Given the description of an element on the screen output the (x, y) to click on. 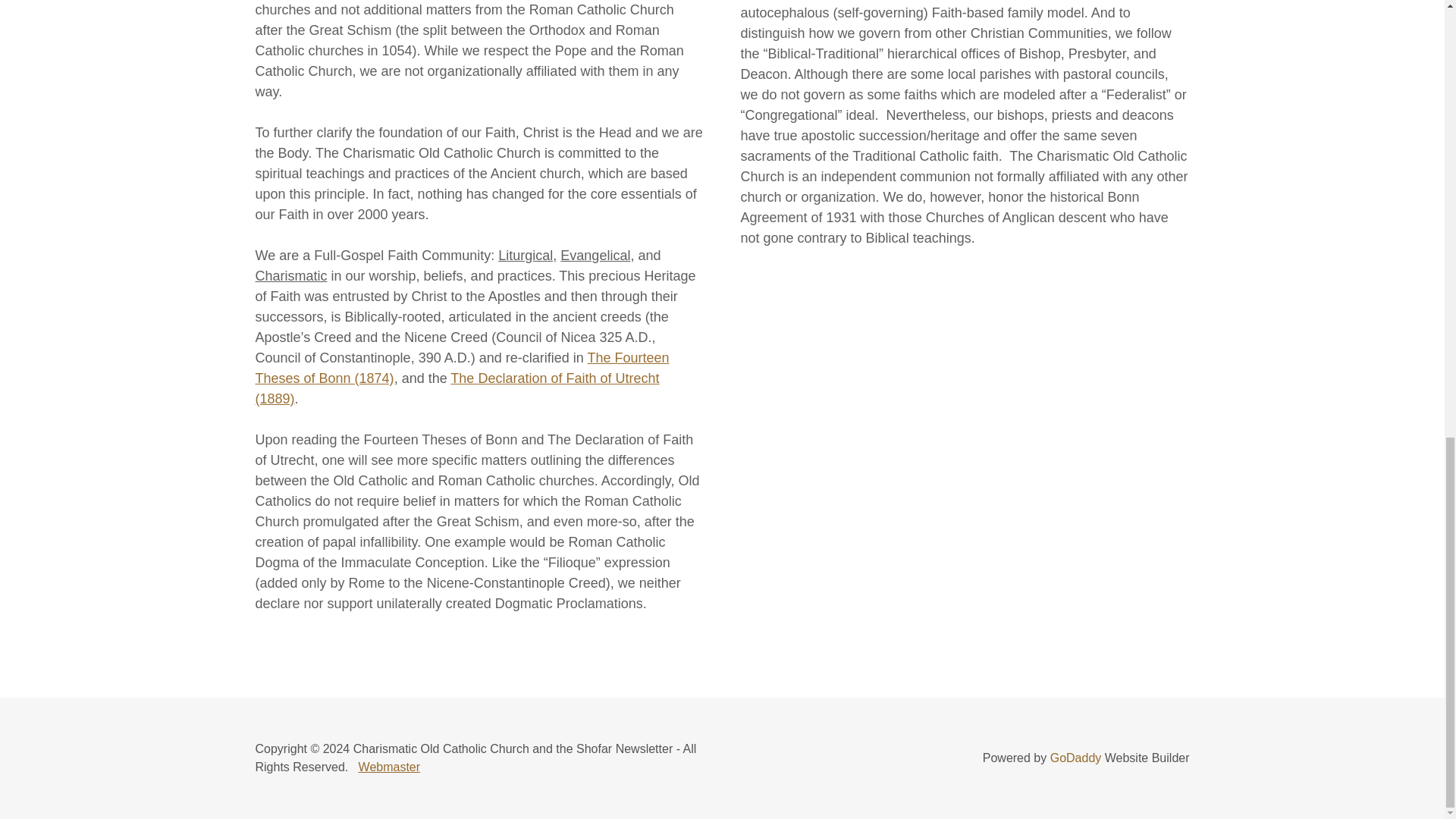
GoDaddy (1075, 757)
Webmaster (389, 766)
